Given the description of an element on the screen output the (x, y) to click on. 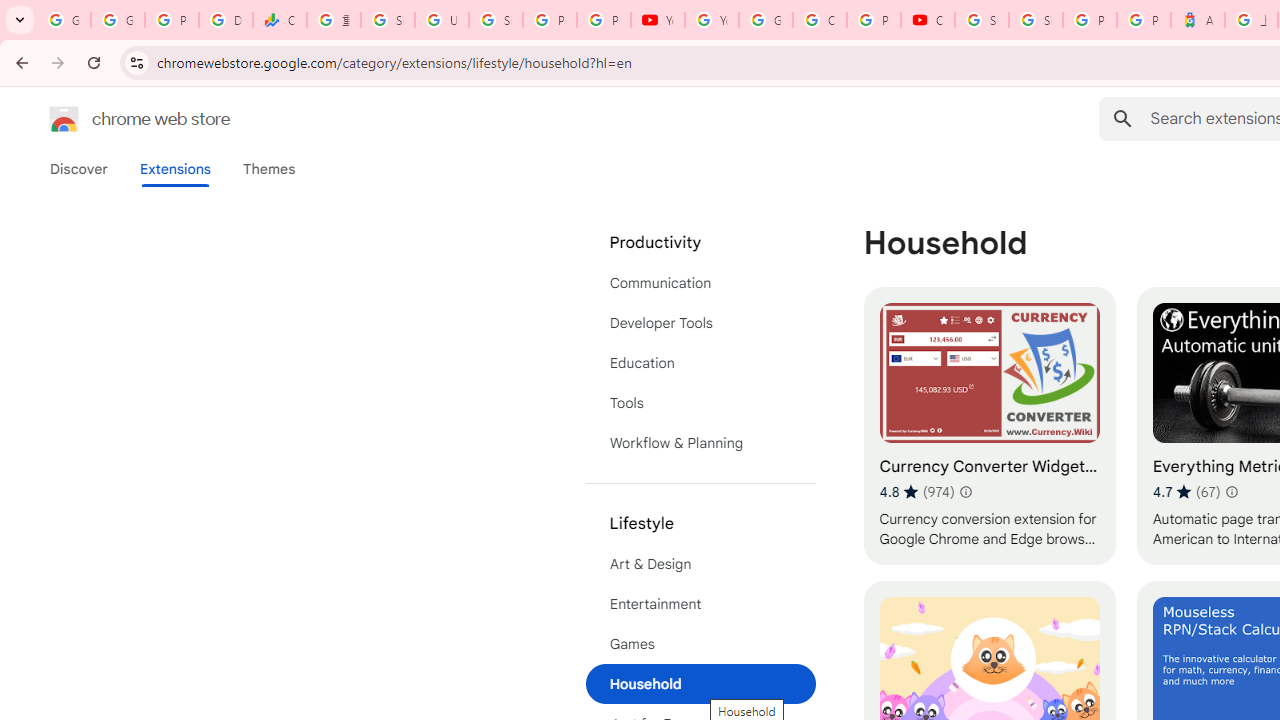
Extensions (174, 169)
Themes (269, 169)
Privacy Checkup (604, 20)
Tools (700, 403)
Content Creator Programs & Opportunities - YouTube Creators (927, 20)
Sign in - Google Accounts (981, 20)
YouTube (711, 20)
Google Workspace Admin Community (63, 20)
Art & Design (700, 563)
Sign in - Google Accounts (495, 20)
Household (selected) (700, 683)
